Given the description of an element on the screen output the (x, y) to click on. 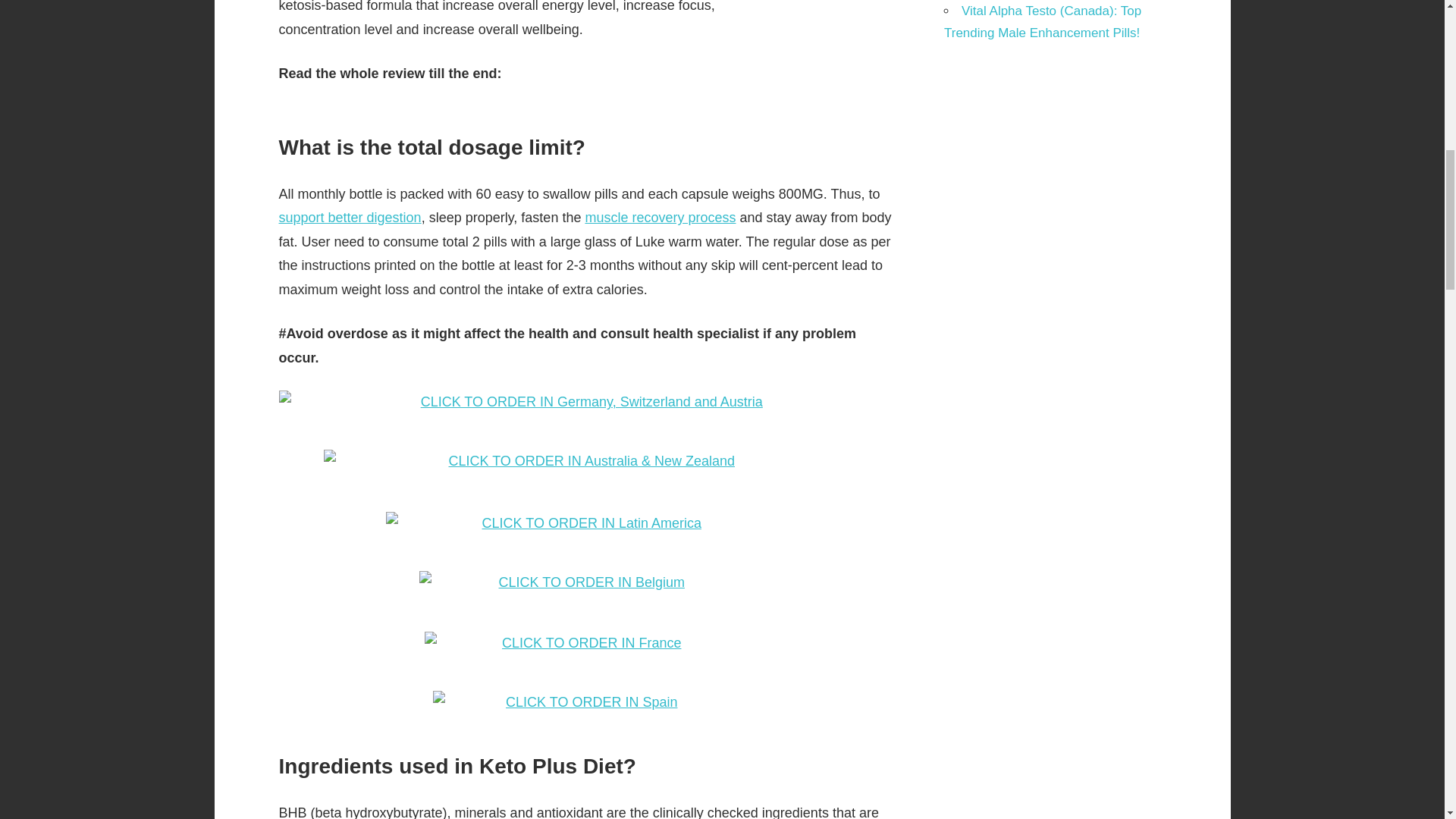
CLICK TO ORDER IN Germany, Switzerland and Austria (586, 409)
CLICK TO ORDER IN Belgium (585, 590)
support better digestion (350, 217)
CLICK TO ORDER IN Latin America (585, 530)
muscle recovery process (660, 217)
